Given the description of an element on the screen output the (x, y) to click on. 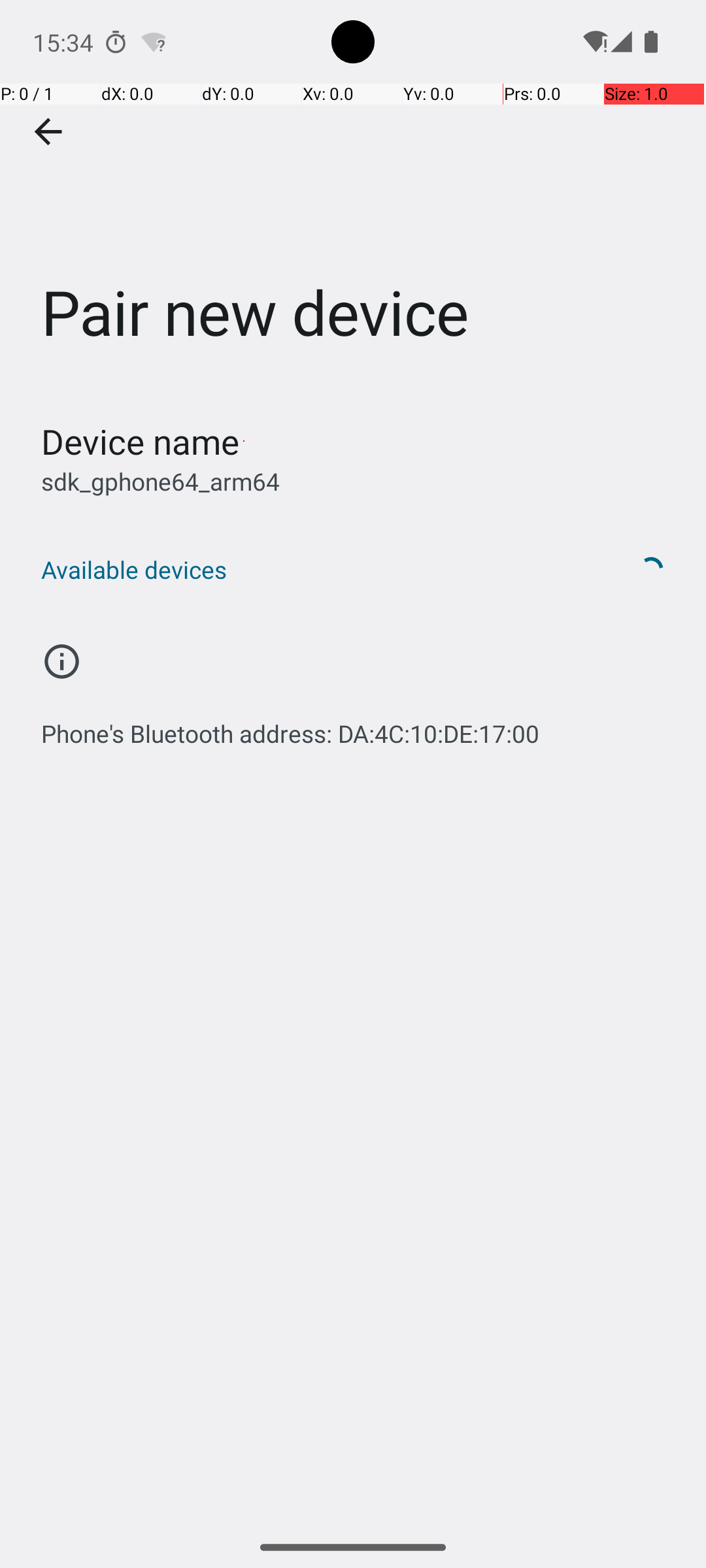
Available devices Element type: android.widget.TextView (318, 569)
Phone's Bluetooth address: DA:4C:10:DE:17:00 Element type: android.widget.TextView (290, 726)
